Given the description of an element on the screen output the (x, y) to click on. 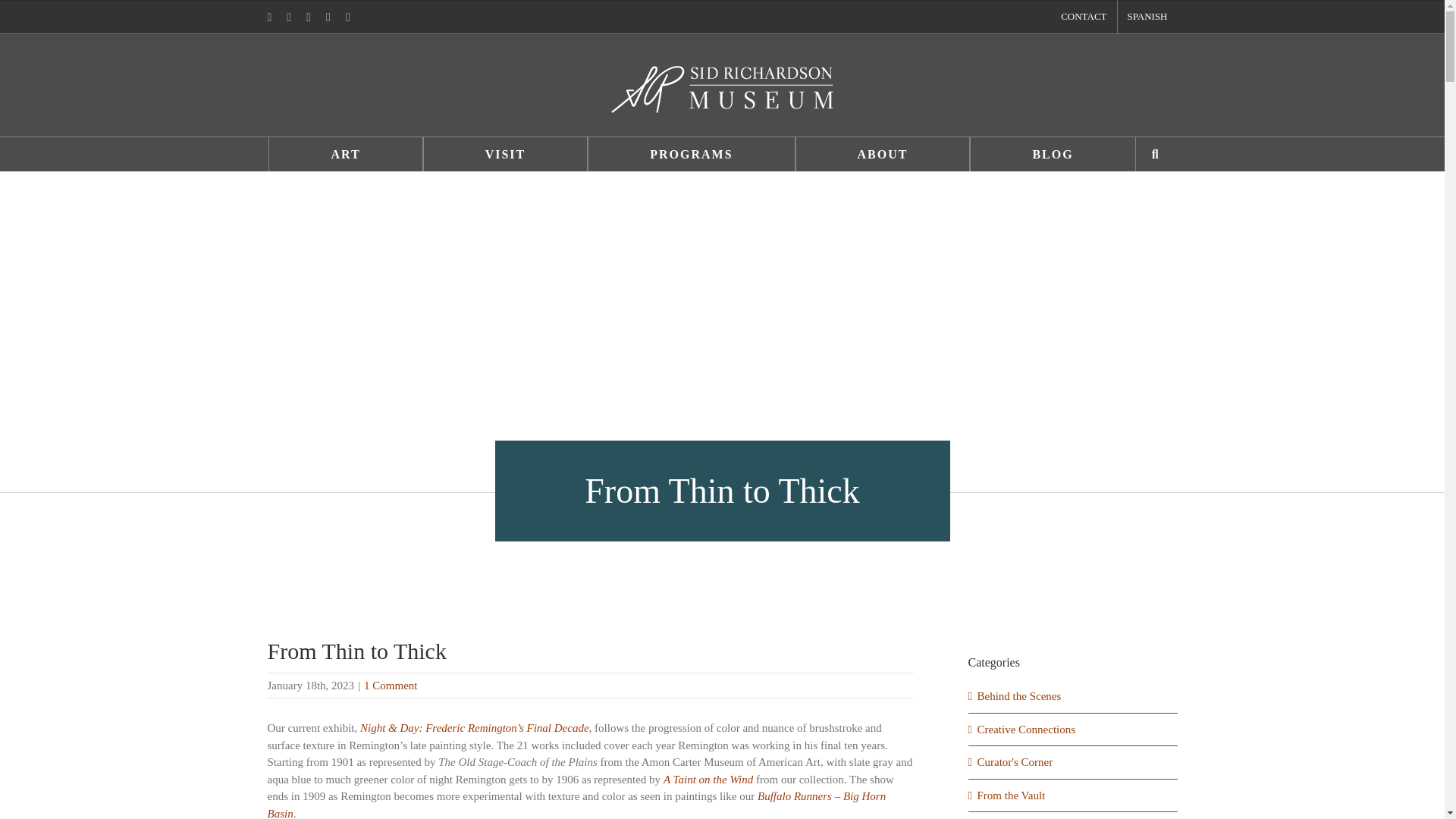
VISIT (505, 154)
SPANISH (1147, 16)
CONTACT (1083, 16)
Search (1155, 154)
ART (344, 154)
ABOUT (882, 154)
BLOG (1052, 154)
PROGRAMS (691, 154)
